Given the description of an element on the screen output the (x, y) to click on. 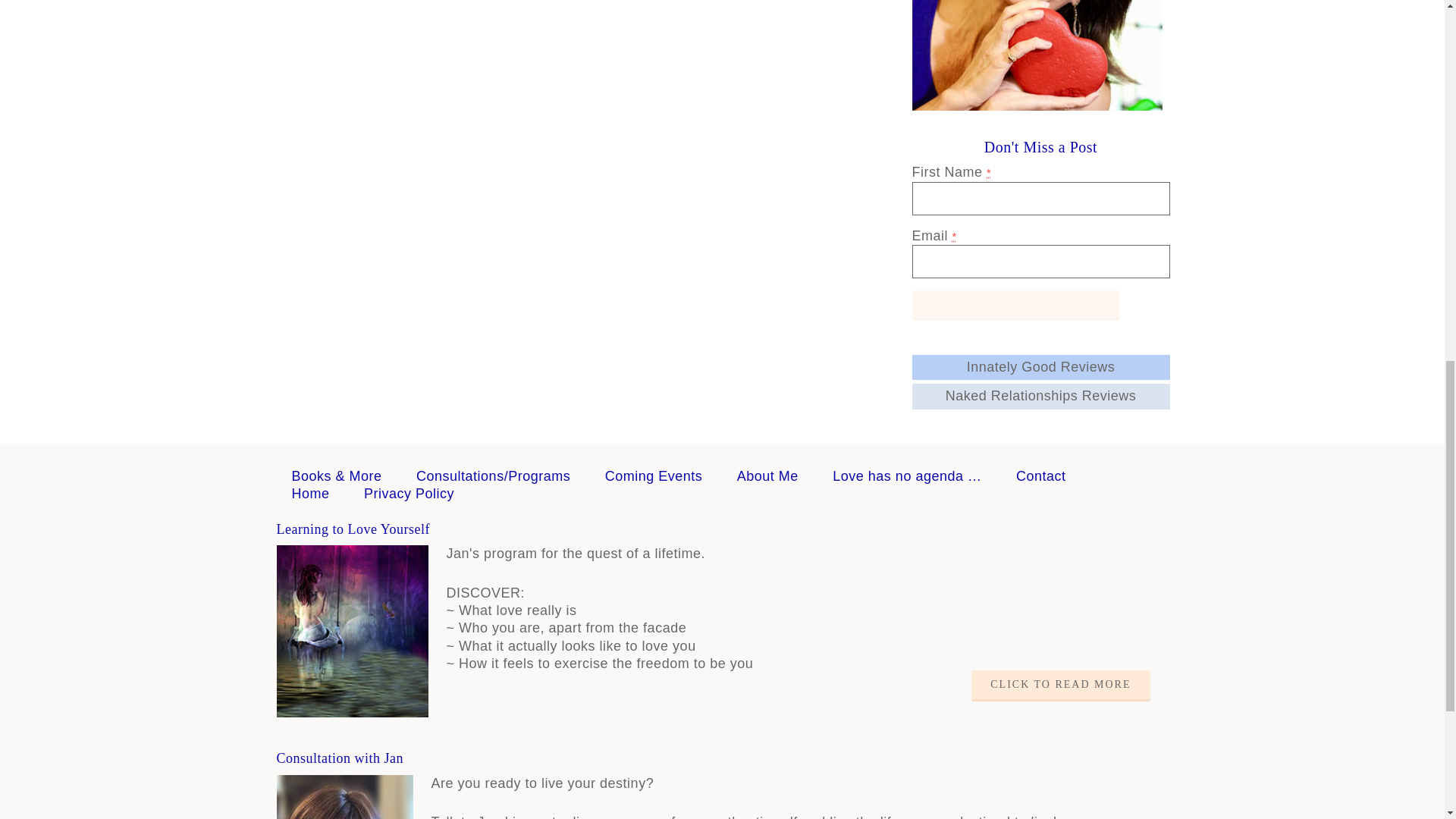
Contact (1040, 476)
required (989, 173)
Home (310, 493)
Sign up for Newsletter (1015, 305)
Sign up for Newsletter (1015, 305)
Privacy Policy (409, 493)
required (954, 236)
About Me (766, 476)
CLICK TO READ MORE (1060, 685)
Naked Relationships Reviews (1040, 395)
Coming Events (654, 476)
Innately Good Reviews (1040, 366)
